Given the description of an element on the screen output the (x, y) to click on. 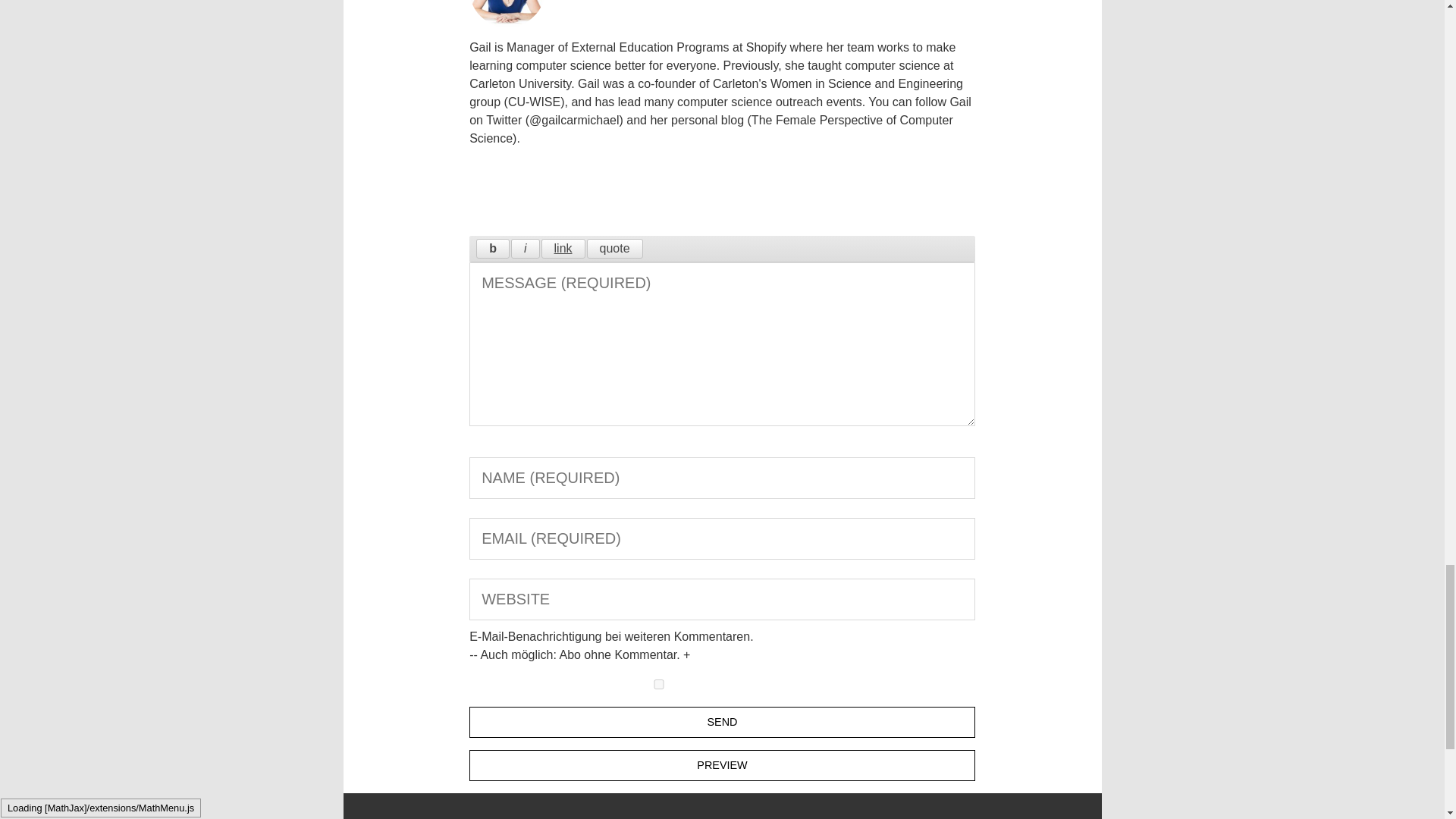
Send (721, 721)
quote (614, 248)
link (563, 248)
b (492, 248)
i (525, 248)
yes (658, 684)
